Given the description of an element on the screen output the (x, y) to click on. 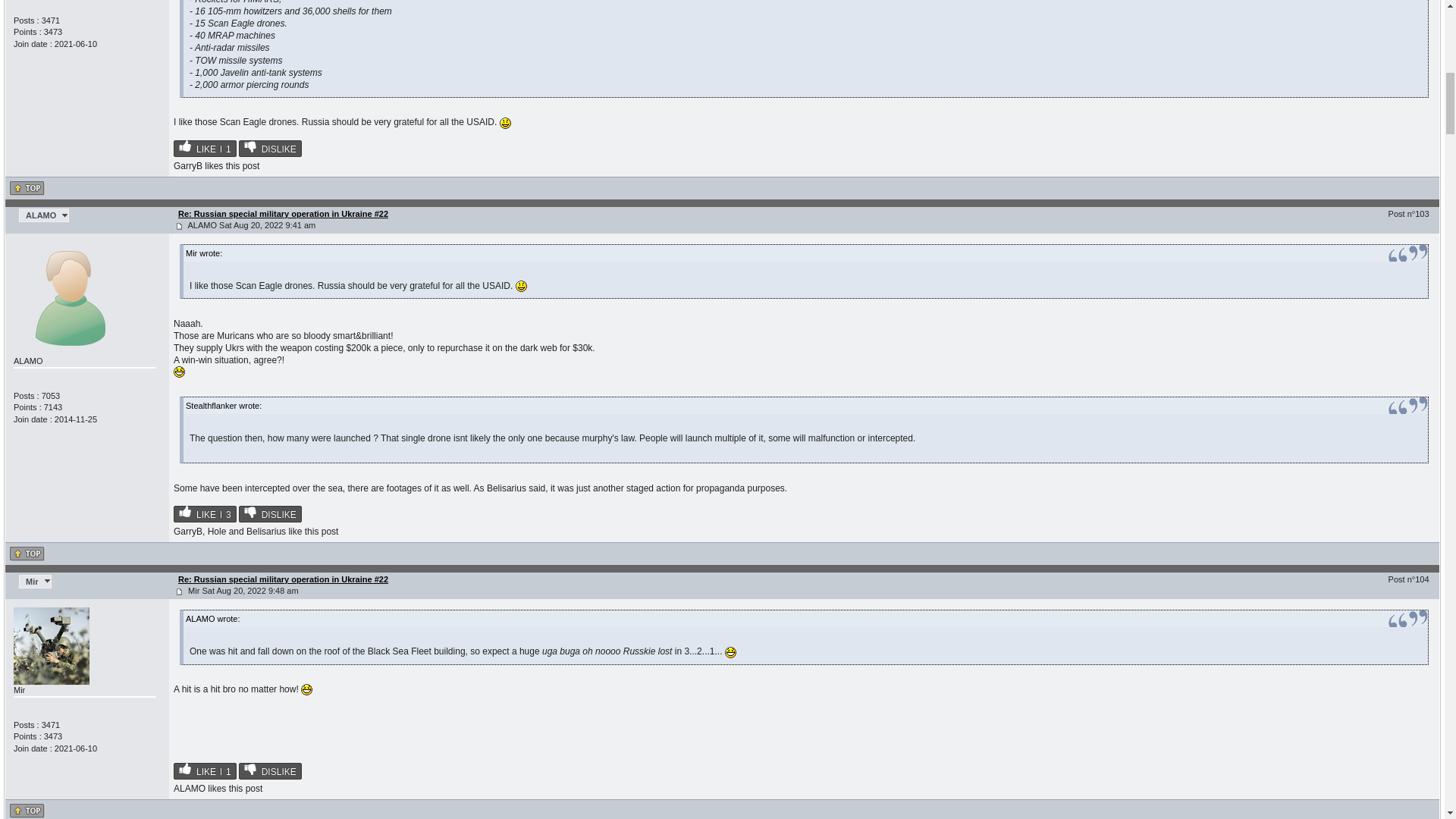
Mir (34, 581)
Post (178, 591)
Post (178, 226)
DISLIKE (269, 148)
LIKE3 (204, 514)
LIKE1 (204, 148)
ALAMO (43, 214)
DISLIKE (269, 514)
